Given the description of an element on the screen output the (x, y) to click on. 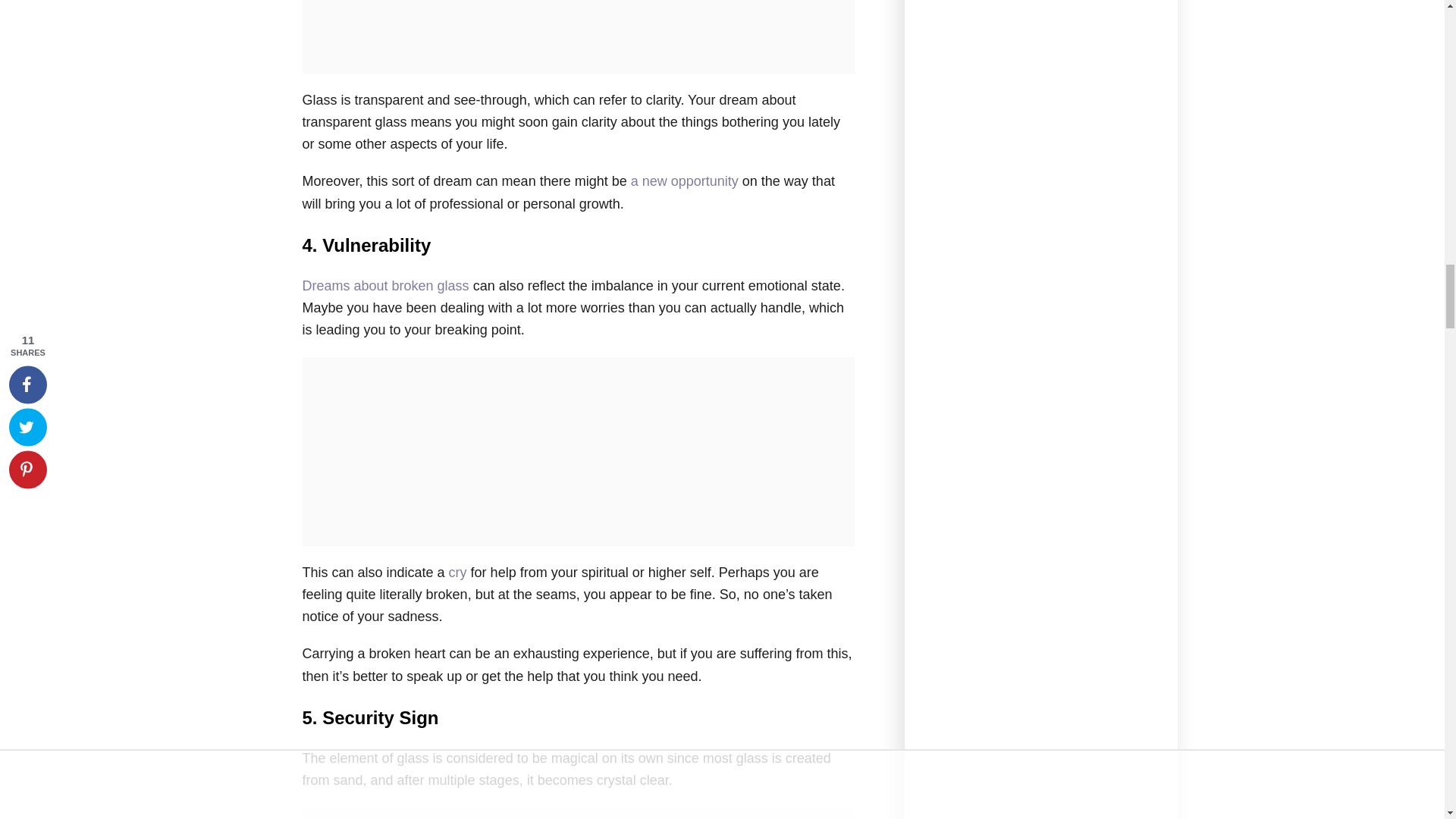
cry (457, 572)
Dreams about broken glass (384, 285)
a new opportunity (684, 181)
